Given the description of an element on the screen output the (x, y) to click on. 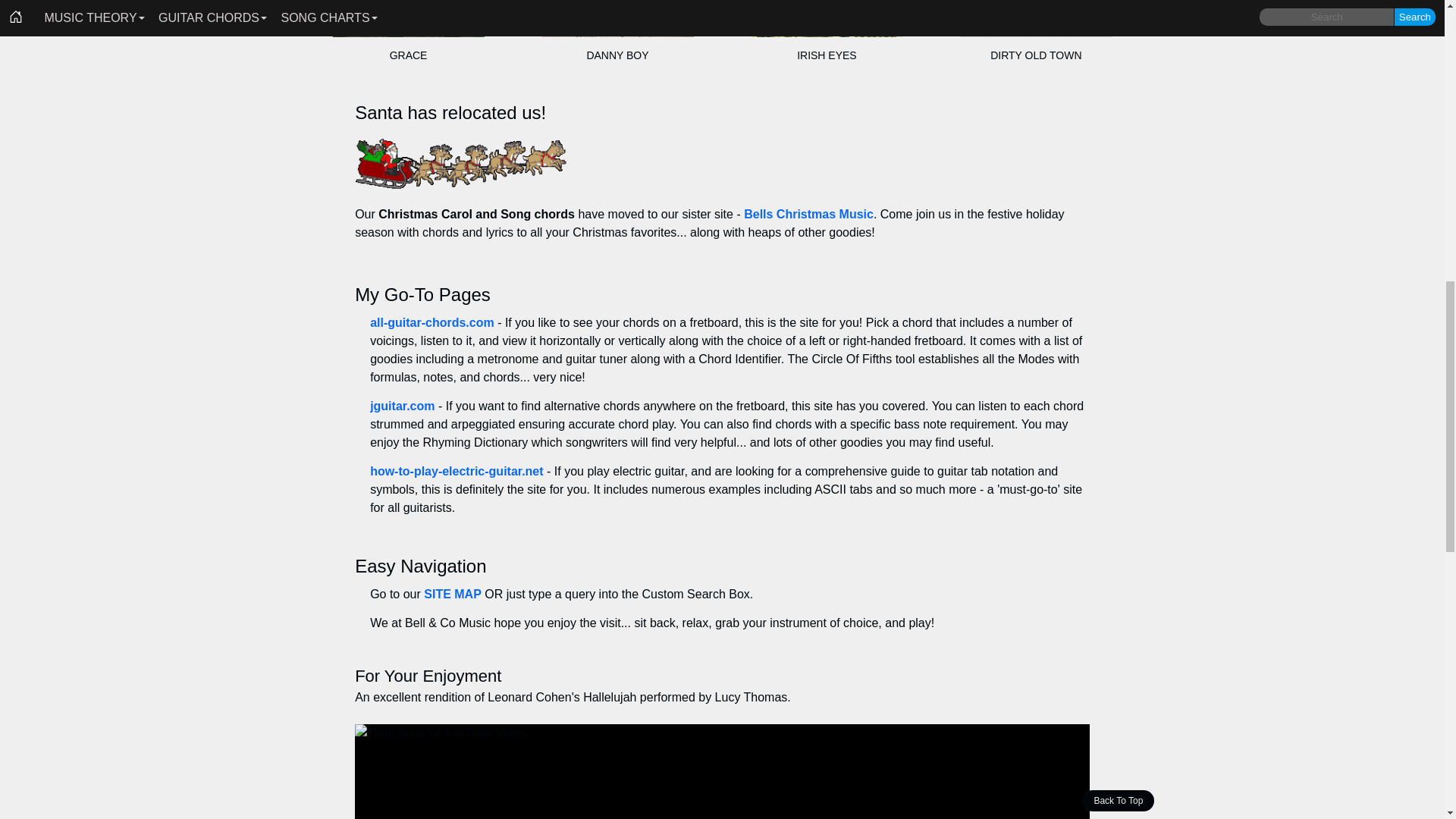
Bells Christmas Music (808, 214)
all-guitar-chords.com (432, 322)
